Given the description of an element on the screen output the (x, y) to click on. 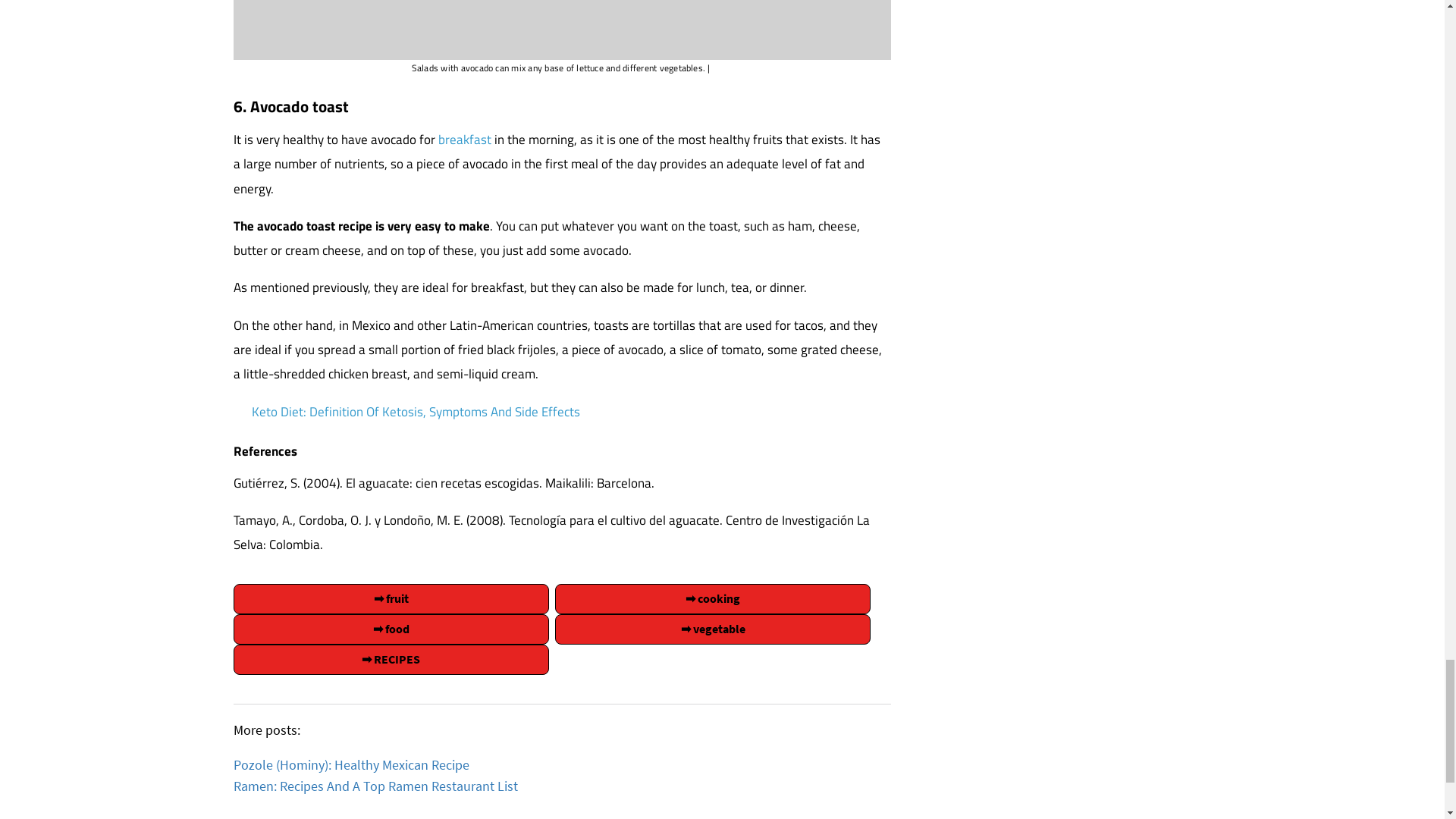
Salad with avocado (561, 29)
breakfast (466, 139)
food (390, 629)
fruit (390, 598)
Healthy breakfast ideas (466, 139)
Last minute of RECIPES (390, 659)
Ramen: Recipes And A Top Ramen Restaurant List (375, 785)
Keto Diet: Definition Of Ketosis, Symptoms And Side Effects (415, 411)
cooking (712, 598)
vegetable (712, 629)
Ramen: Recipes And A Top Ramen Restaurant List (375, 785)
